Given the description of an element on the screen output the (x, y) to click on. 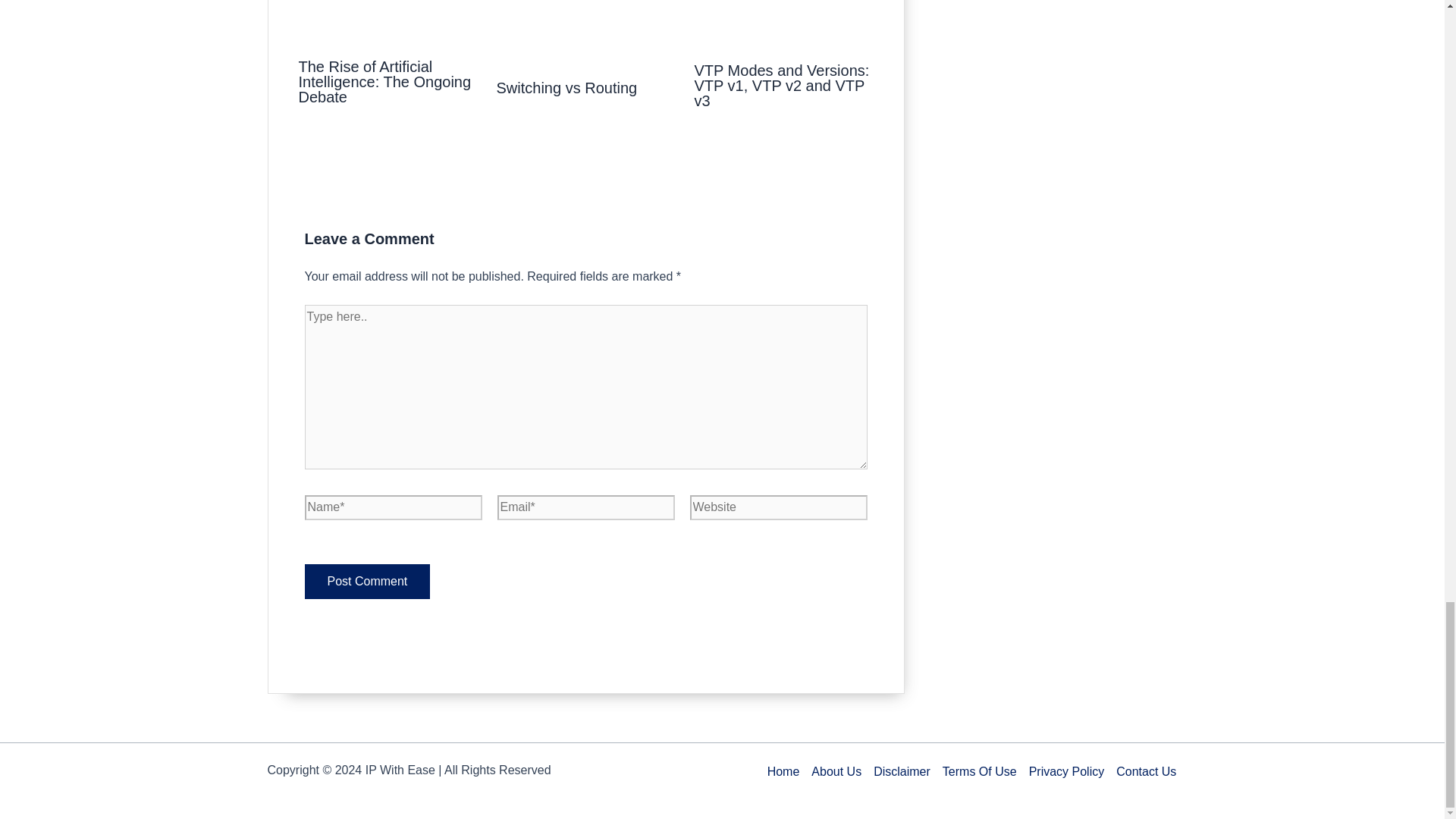
Post Comment (367, 581)
